Given the description of an element on the screen output the (x, y) to click on. 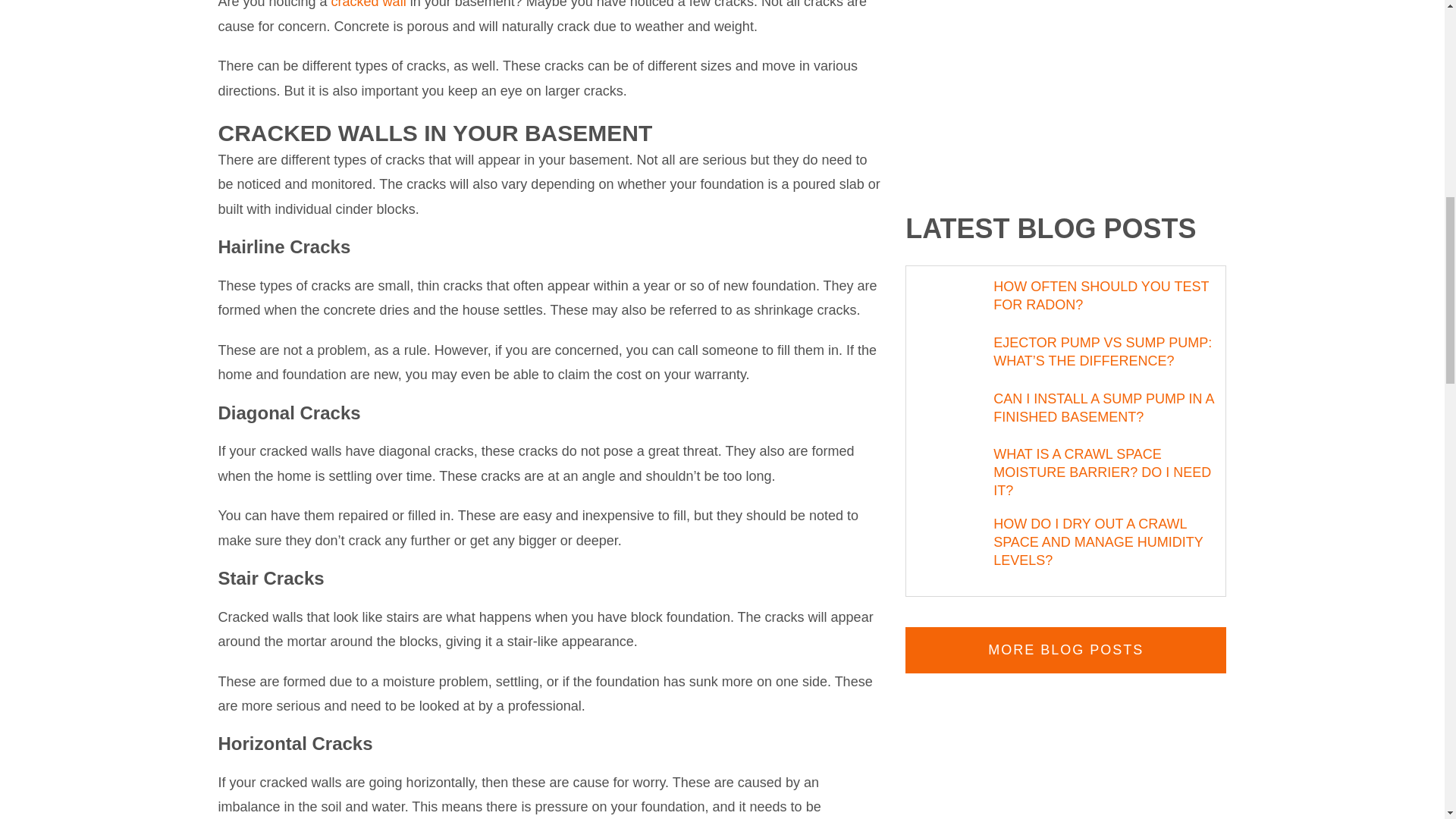
How Do I Dry Out a Crawl Space and Manage Humidity Levels? (954, 539)
cracked wall (368, 4)
How Often Should You Test for Radon? (954, 301)
What is a Crawl Space Moisture Barrier? Do I Need It? (954, 469)
Can I Install a Sump Pump in a Finished Basement? (954, 413)
